Given the description of an element on the screen output the (x, y) to click on. 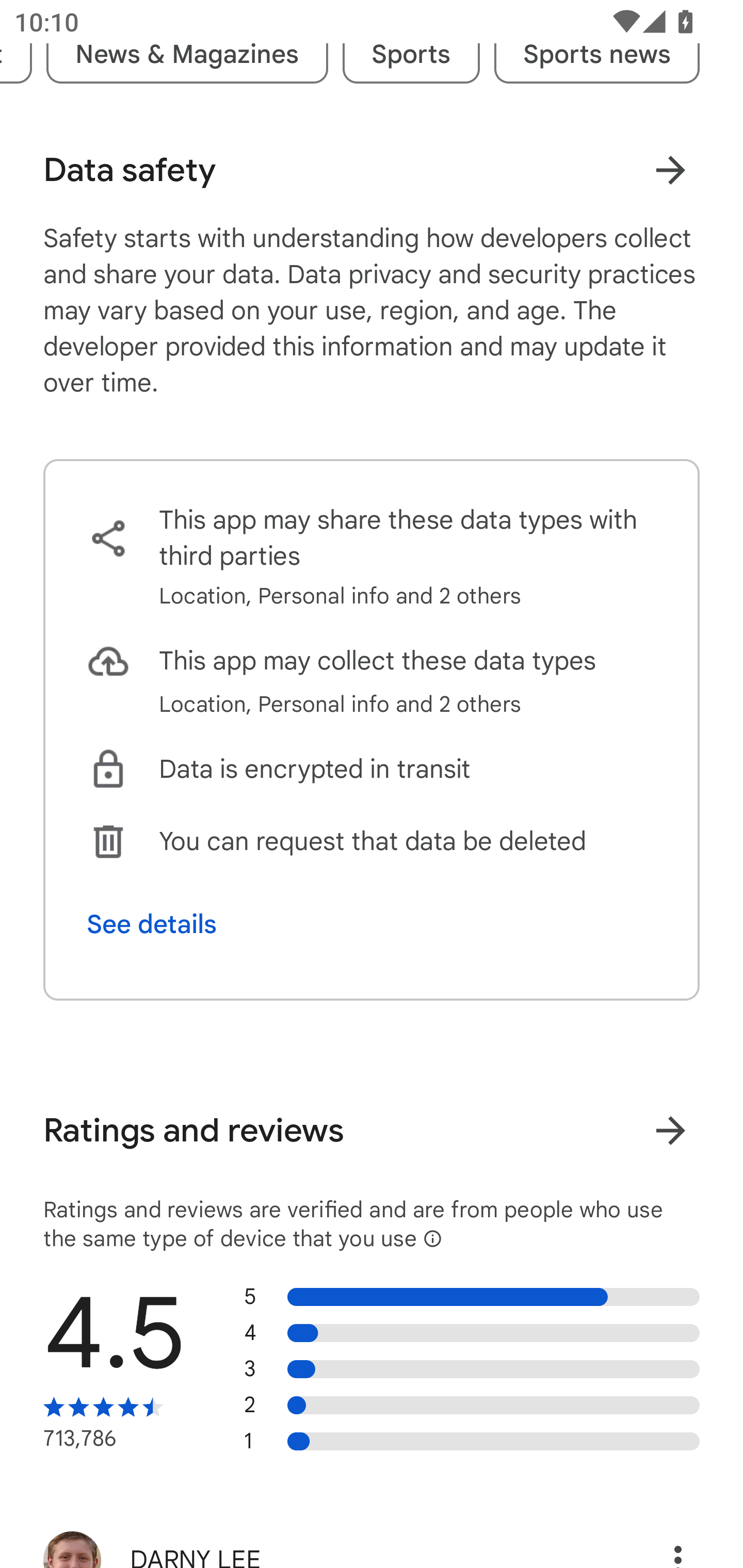
News & Magazines tag (187, 53)
Sports tag (410, 53)
Sports news tag (596, 53)
Data safety Learn more about data safety (371, 170)
Learn more about data safety (670, 170)
See details (151, 924)
Ratings and reviews View all ratings and reviews (371, 1130)
View all ratings and reviews (670, 1130)
